Given the description of an element on the screen output the (x, y) to click on. 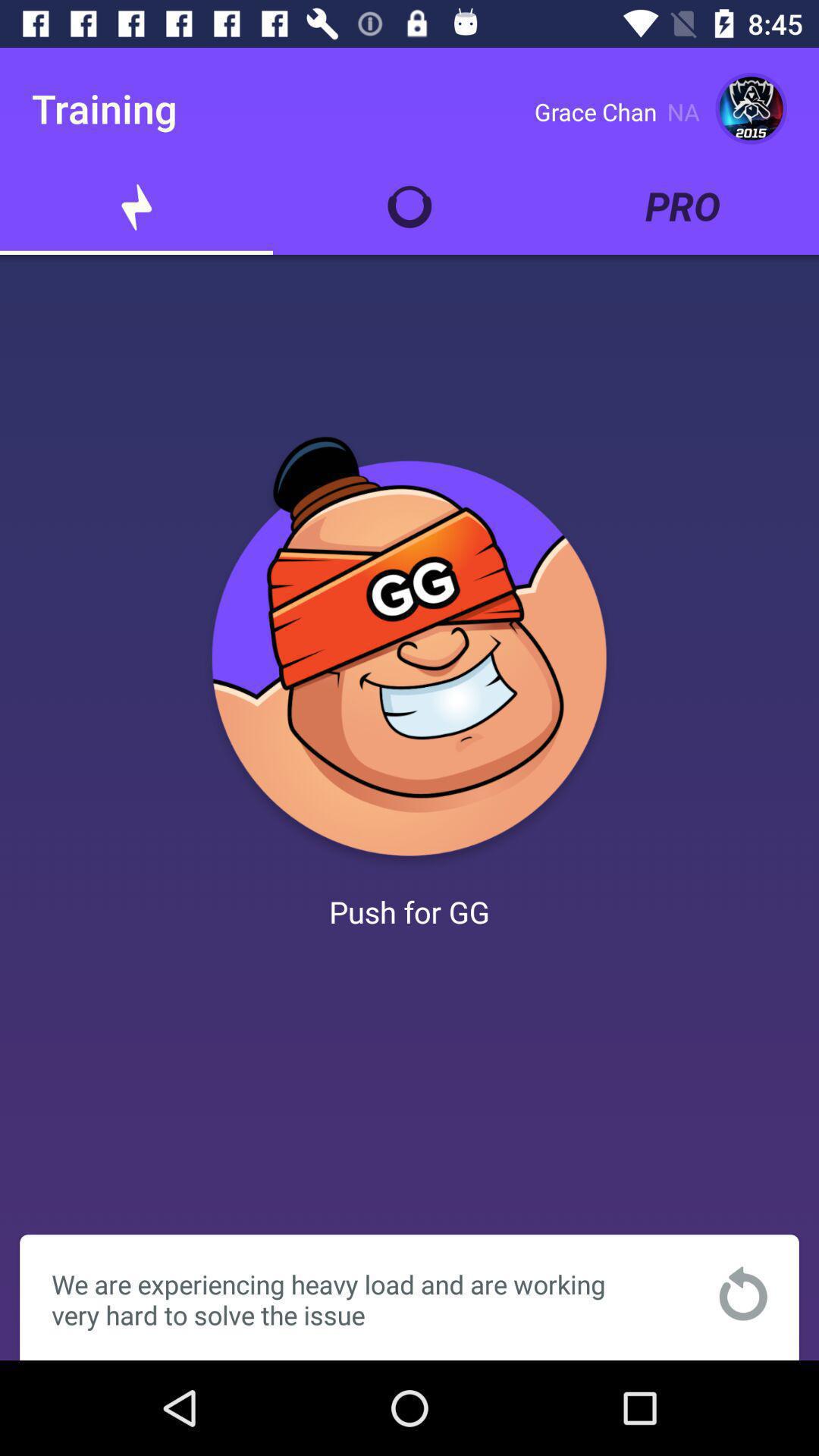
launch item next to we are experiencing item (743, 1293)
